Given the description of an element on the screen output the (x, y) to click on. 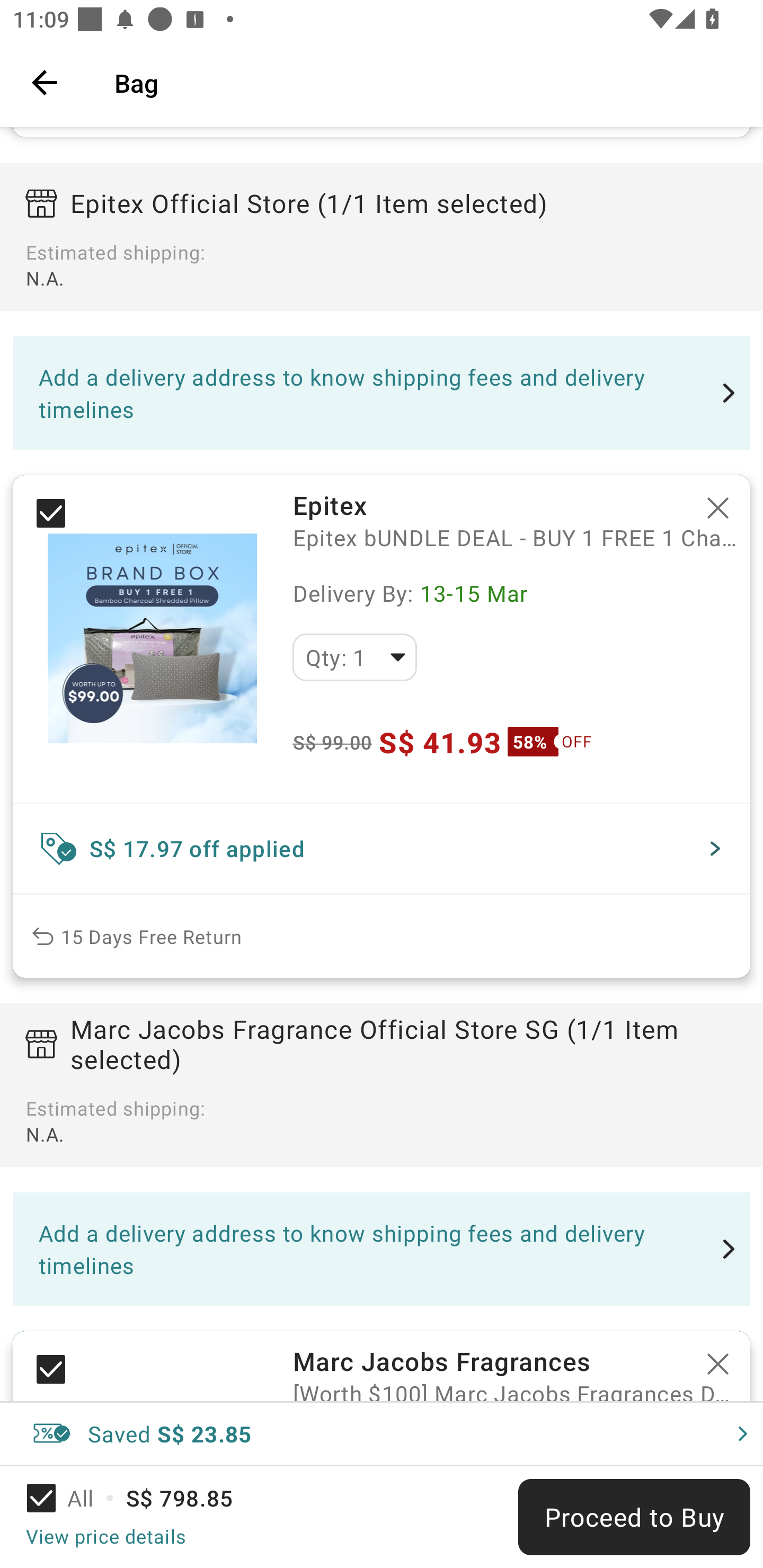
Navigate up (44, 82)
Bag (426, 82)
Qty: 1 (354, 656)
S$ 17.97 off applied (381, 848)
Saved S$ 23.85 (381, 1433)
All (72, 1497)
Proceed to Buy (634, 1516)
View price details (105, 1535)
